Given the description of an element on the screen output the (x, y) to click on. 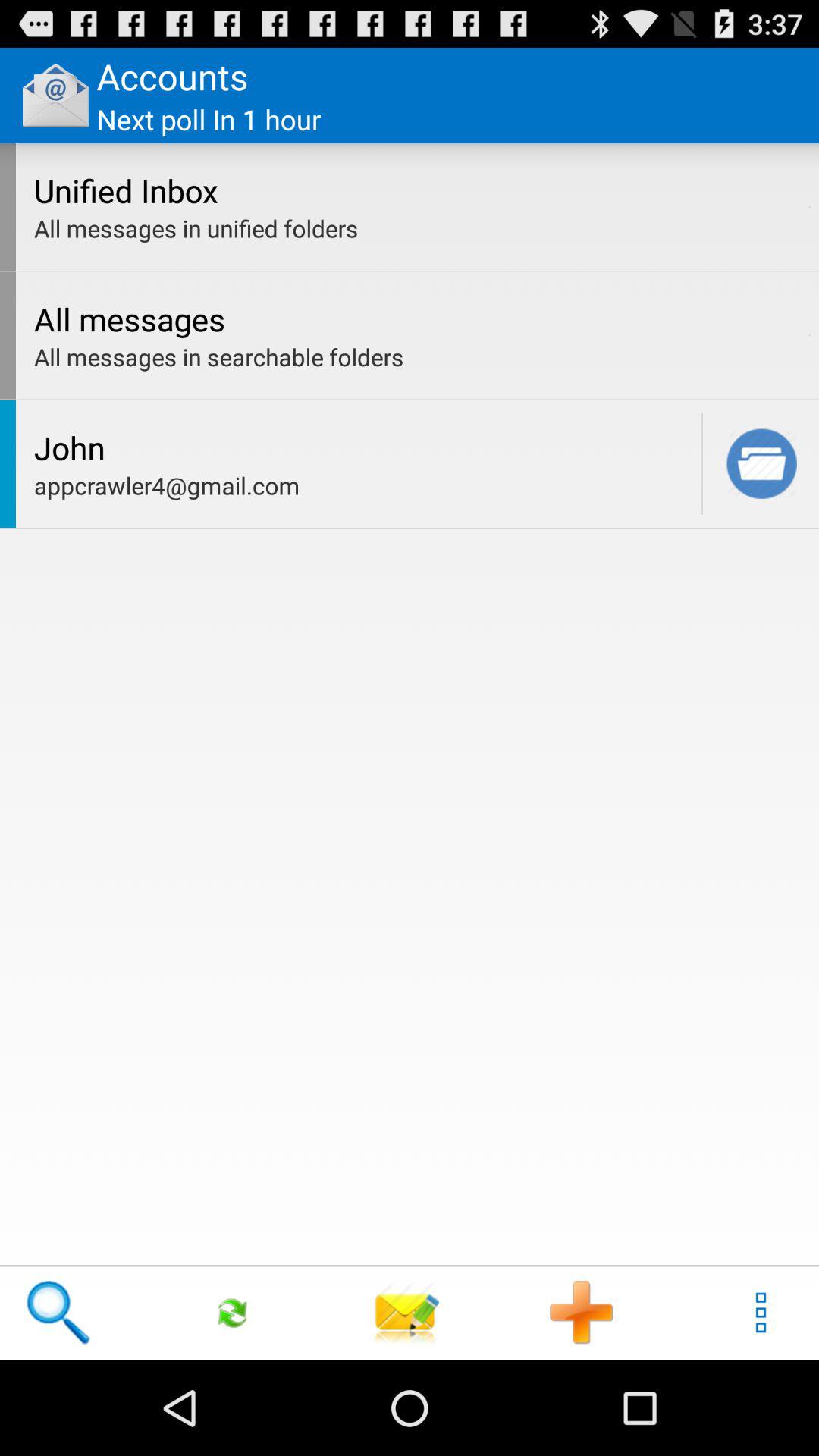
click the unified inbox (417, 190)
